Given the description of an element on the screen output the (x, y) to click on. 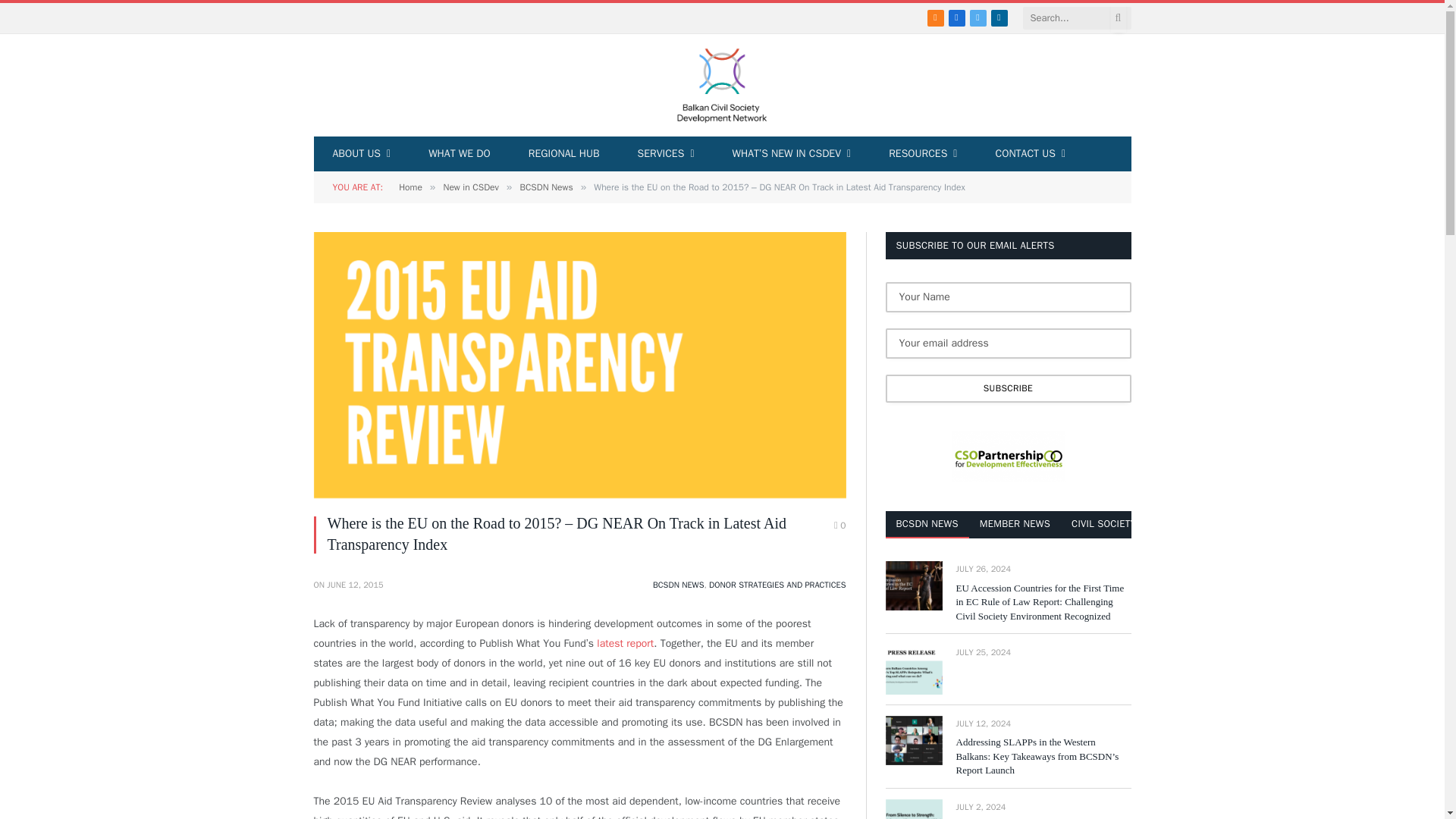
2015-06-12 (354, 584)
SERVICES (665, 153)
Facebook (957, 17)
LinkedIn (999, 17)
REGIONAL HUB (563, 153)
WHAT WE DO (459, 153)
RSS (935, 17)
BCSDN (721, 85)
ABOUT US (362, 153)
Subscribe (1008, 388)
RESOURCES (922, 153)
